Given the description of an element on the screen output the (x, y) to click on. 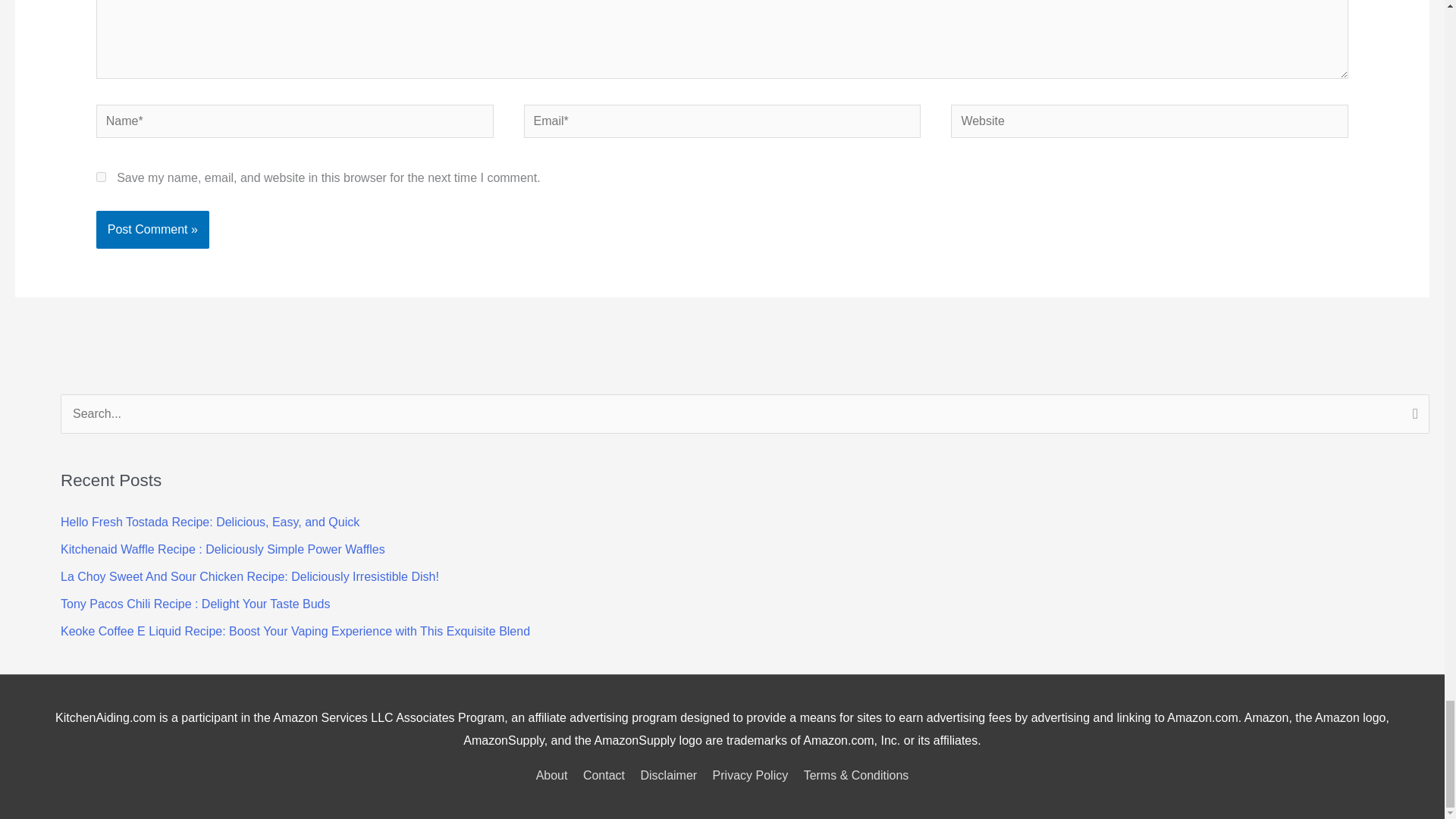
Privacy Policy (750, 775)
Kitchenaid Waffle Recipe : Deliciously Simple Power Waffles (223, 549)
Contact (603, 775)
About (554, 775)
Hello Fresh Tostada Recipe: Delicious, Easy, and Quick (210, 521)
yes (101, 176)
Disclaimer (668, 775)
Tony Pacos Chili Recipe : Delight Your Taste Buds (195, 603)
